Given the description of an element on the screen output the (x, y) to click on. 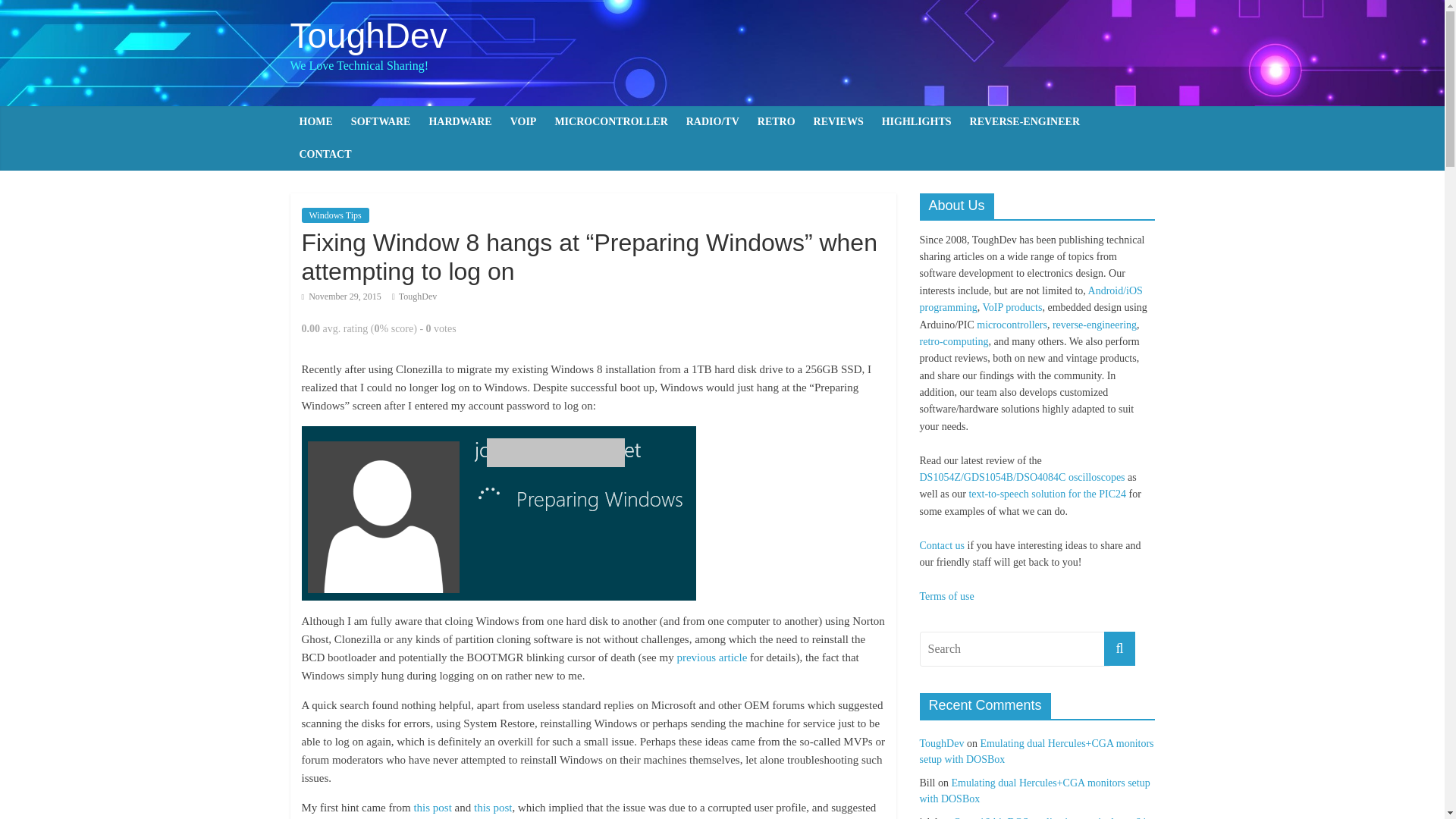
4:36 pm (341, 296)
HOME (314, 122)
retro-computing (953, 341)
HARDWARE (459, 122)
reverse-engineering (1094, 324)
REVERSE-ENGINEER (1024, 122)
ToughDev (417, 296)
this post (493, 807)
REVIEWS (838, 122)
November 29, 2015 (341, 296)
